Given the description of an element on the screen output the (x, y) to click on. 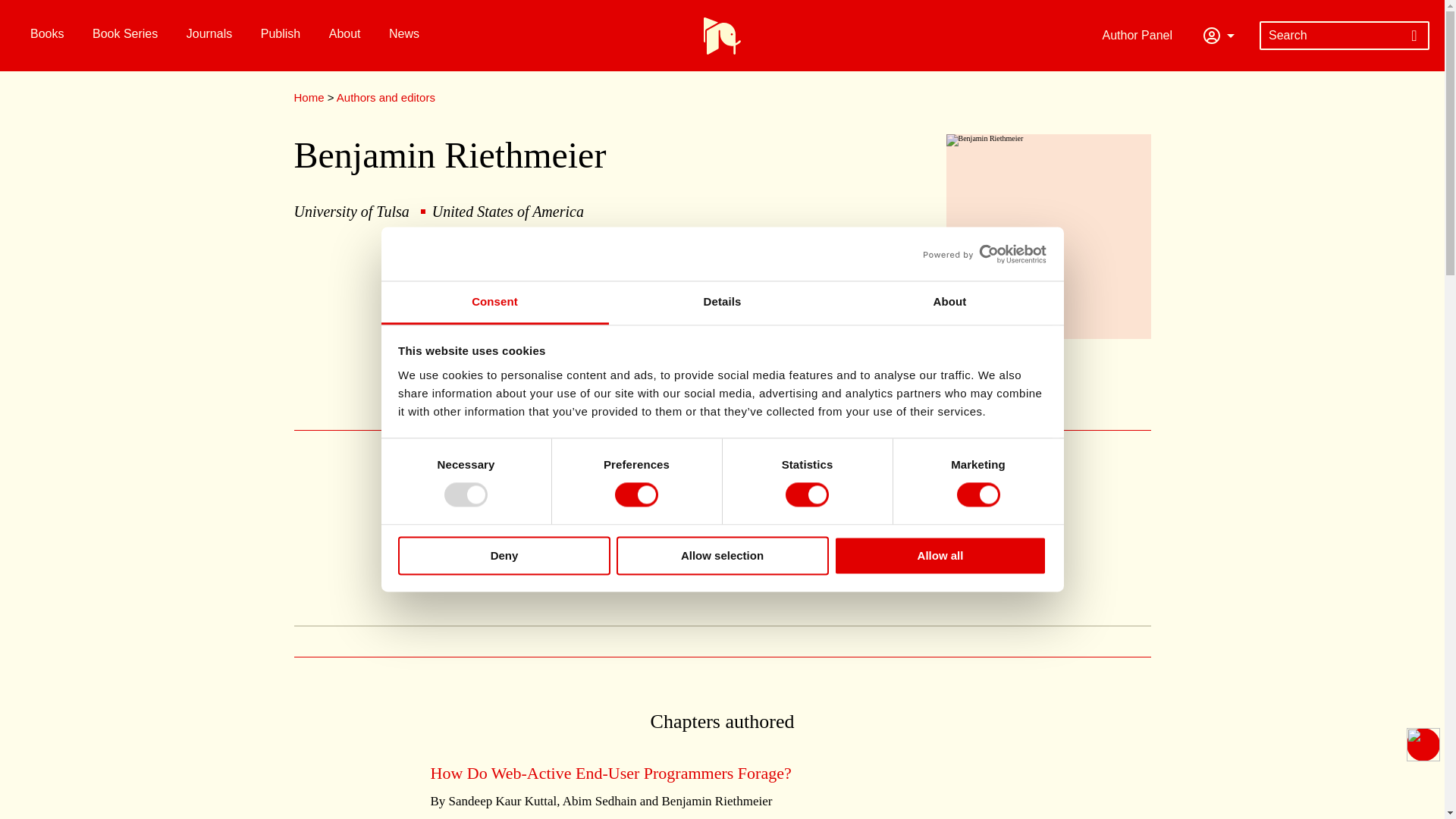
Details (721, 302)
About (948, 302)
Accessibility Menu (1422, 744)
Consent (494, 302)
